Given the description of an element on the screen output the (x, y) to click on. 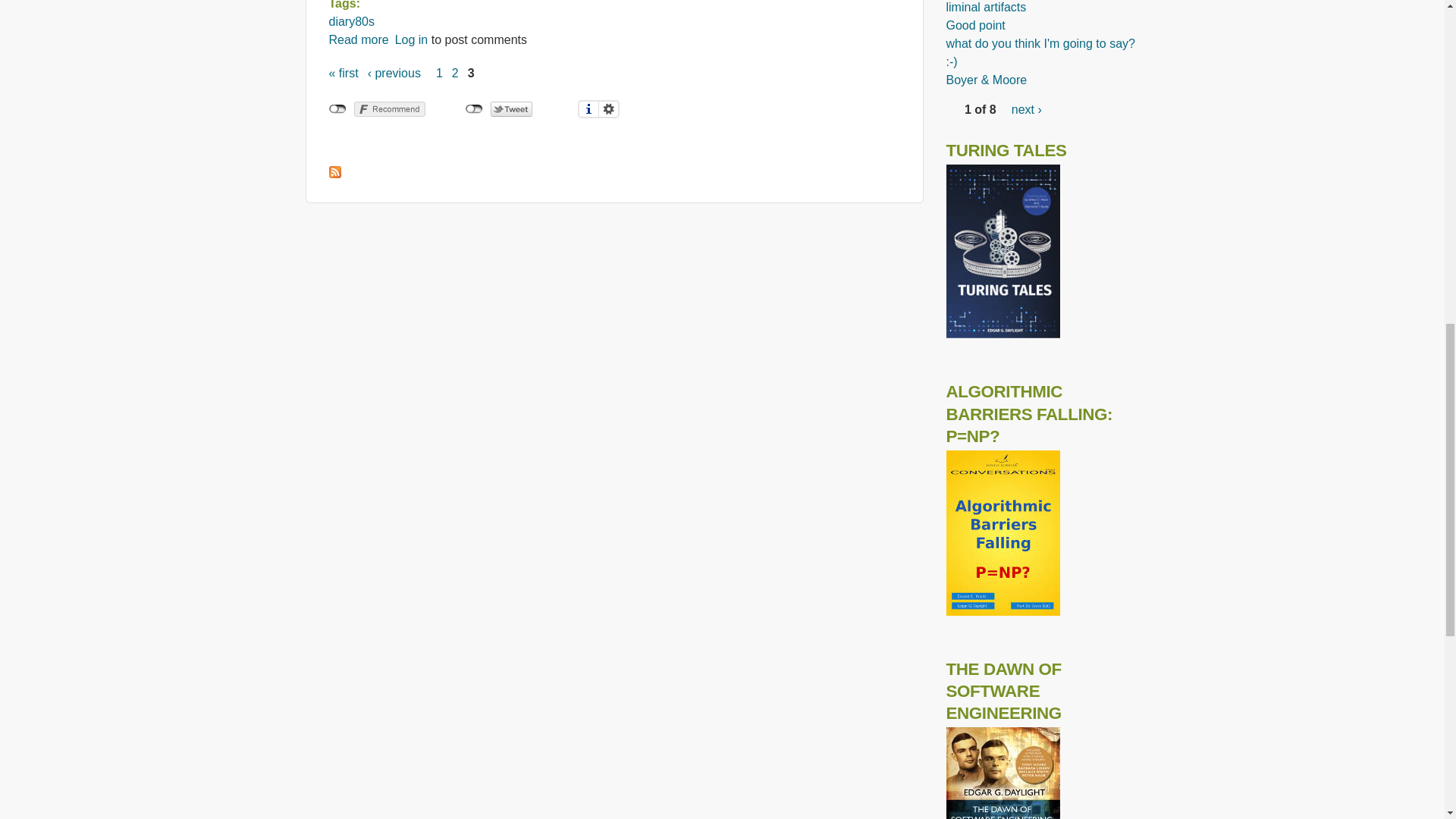
Go to first page (343, 72)
Presentations versus Lectures (358, 39)
diary80s (358, 39)
Log in (351, 21)
Go to previous page (411, 39)
